Given the description of an element on the screen output the (x, y) to click on. 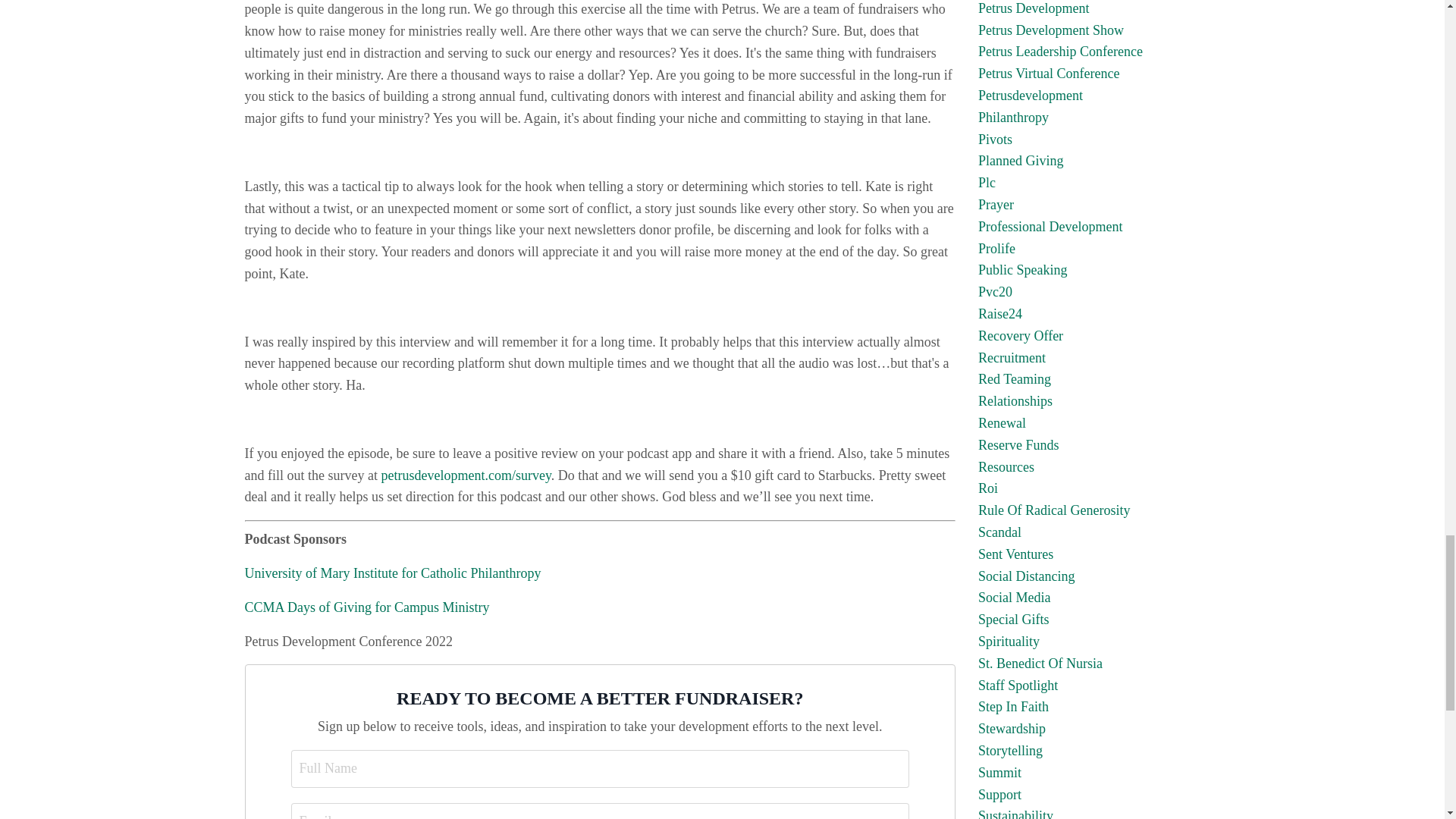
University of Mary Institute for Catholic Philanthropy (392, 572)
CCMA Days of Giving for Campus Ministry (366, 607)
